Given the description of an element on the screen output the (x, y) to click on. 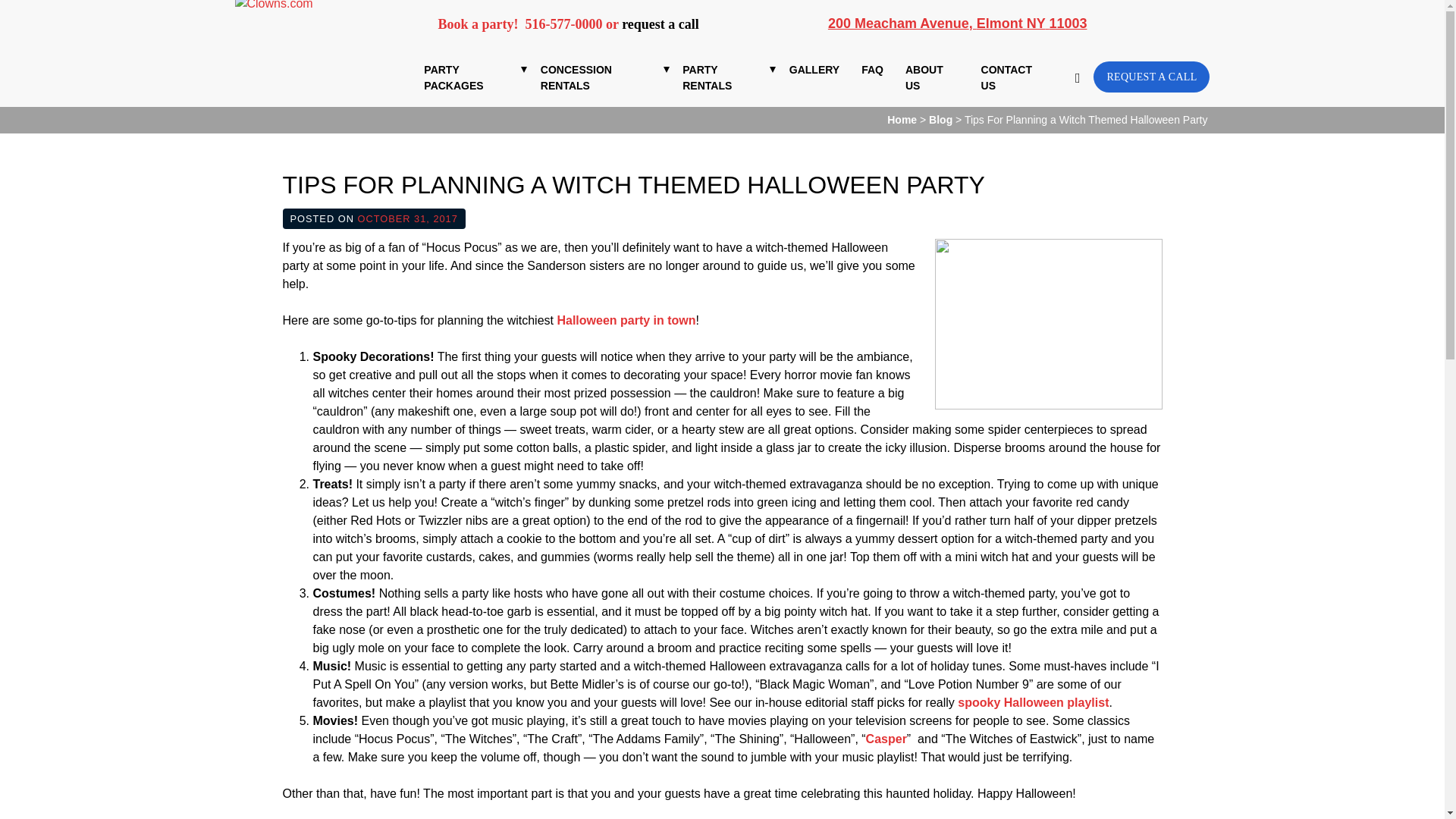
request a call (659, 23)
516-577-0000 (563, 23)
200 Meacham Avenue, Elmont NY 11003 (957, 23)
